Given the description of an element on the screen output the (x, y) to click on. 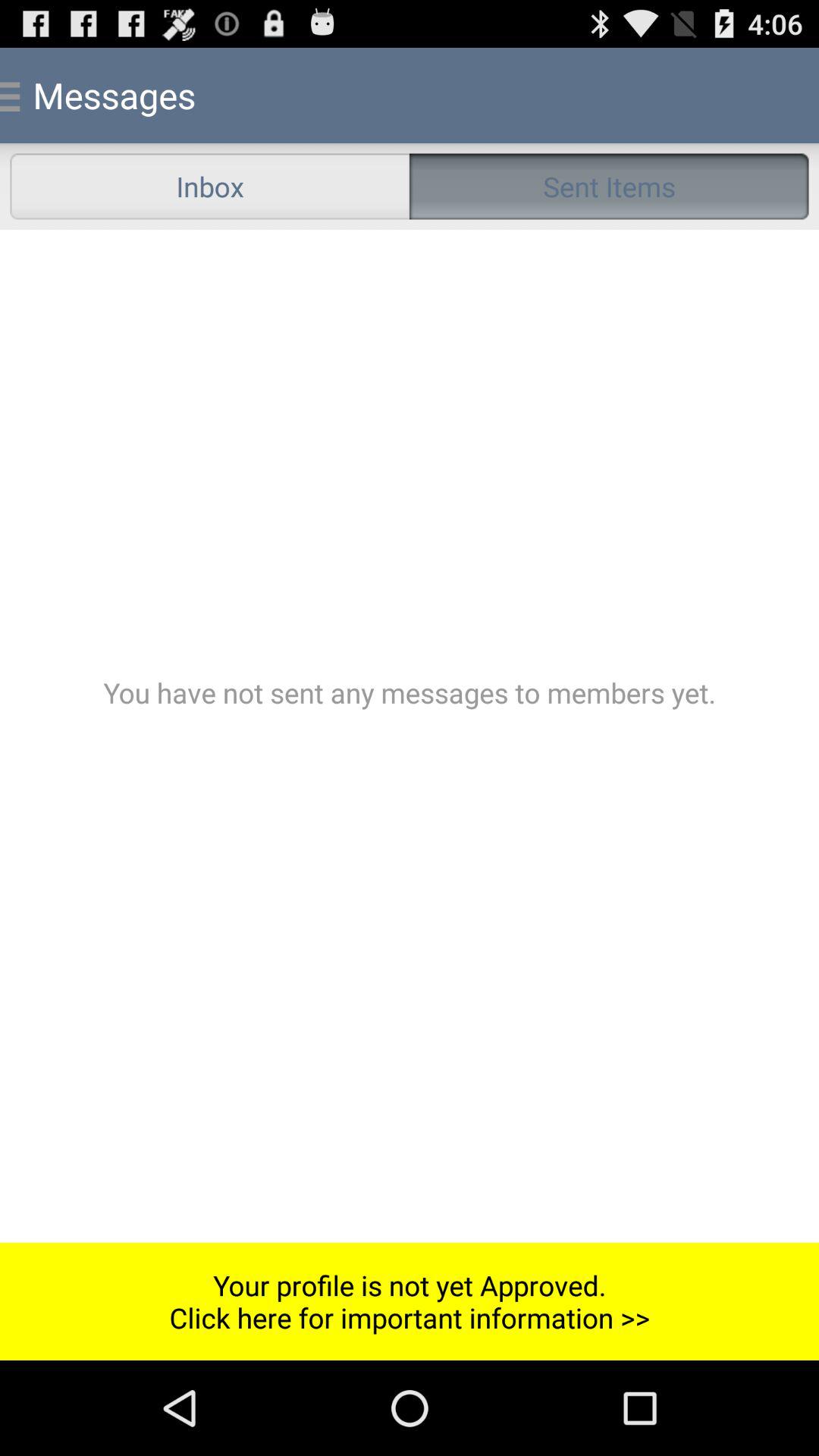
view sent messages (409, 735)
